Given the description of an element on the screen output the (x, y) to click on. 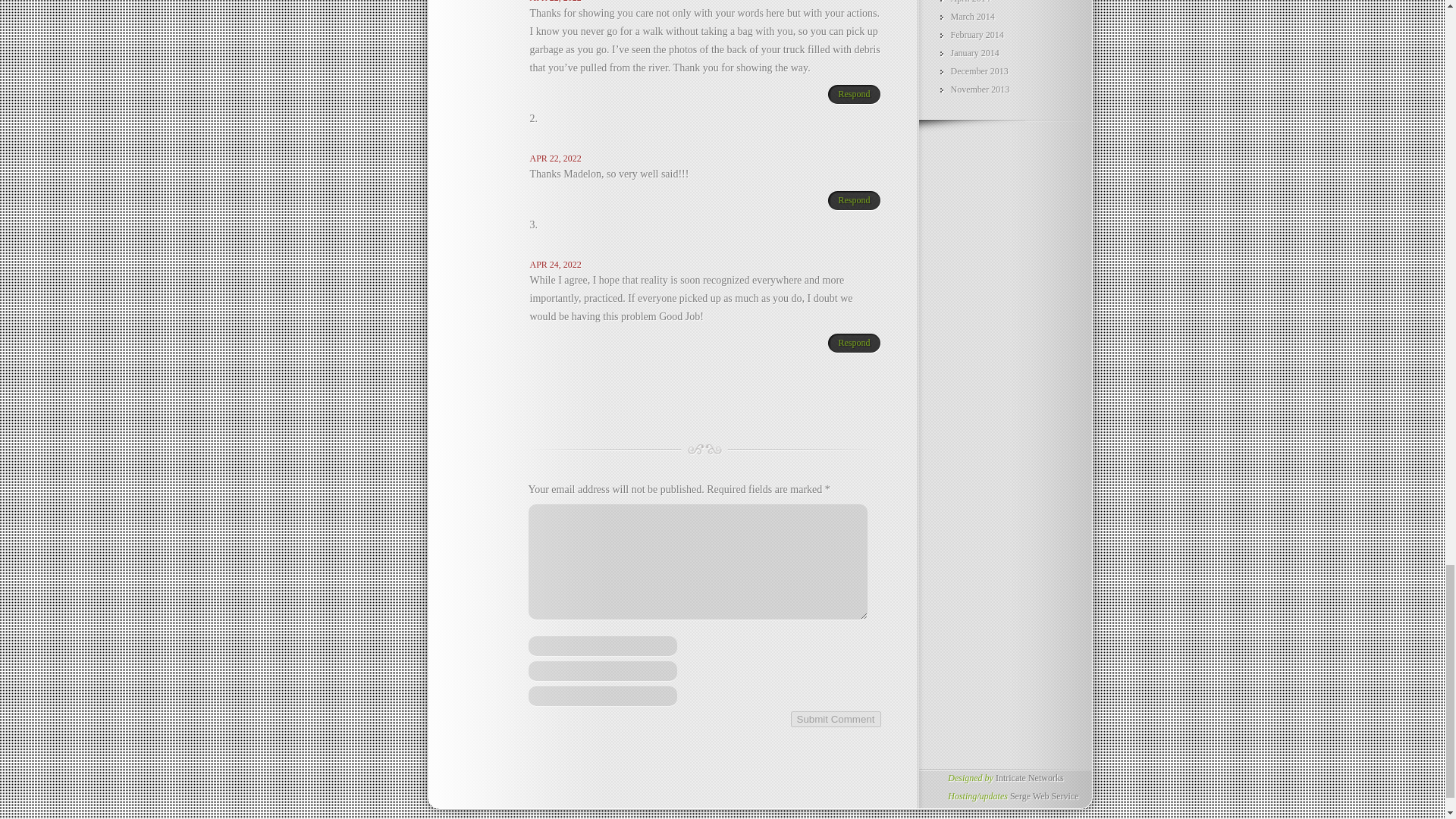
Submit Comment (835, 719)
Respond (849, 94)
Submit Comment (835, 719)
Respond (849, 342)
Respond (849, 200)
